Given the description of an element on the screen output the (x, y) to click on. 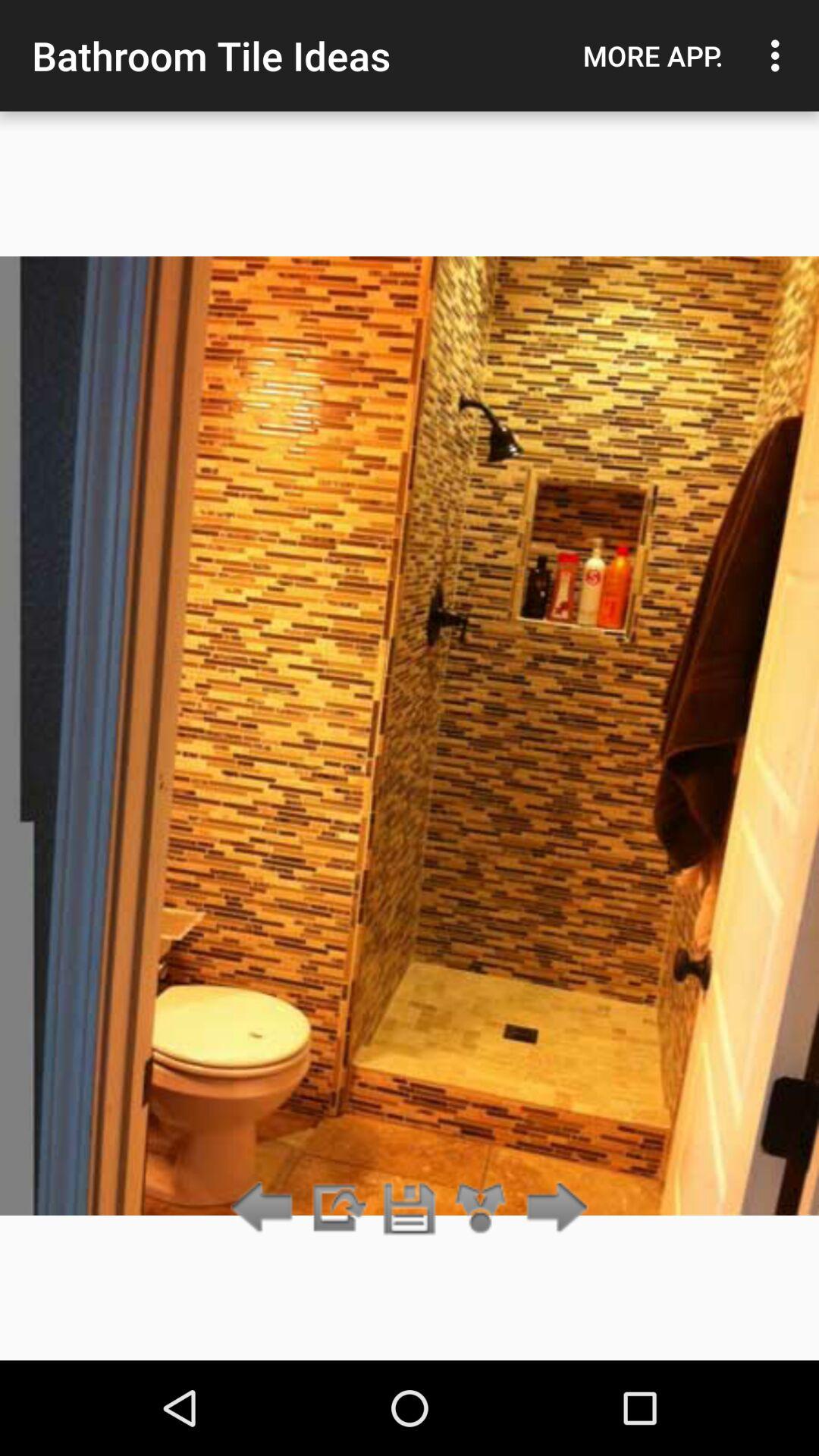
press the item below more app. item (552, 1209)
